Given the description of an element on the screen output the (x, y) to click on. 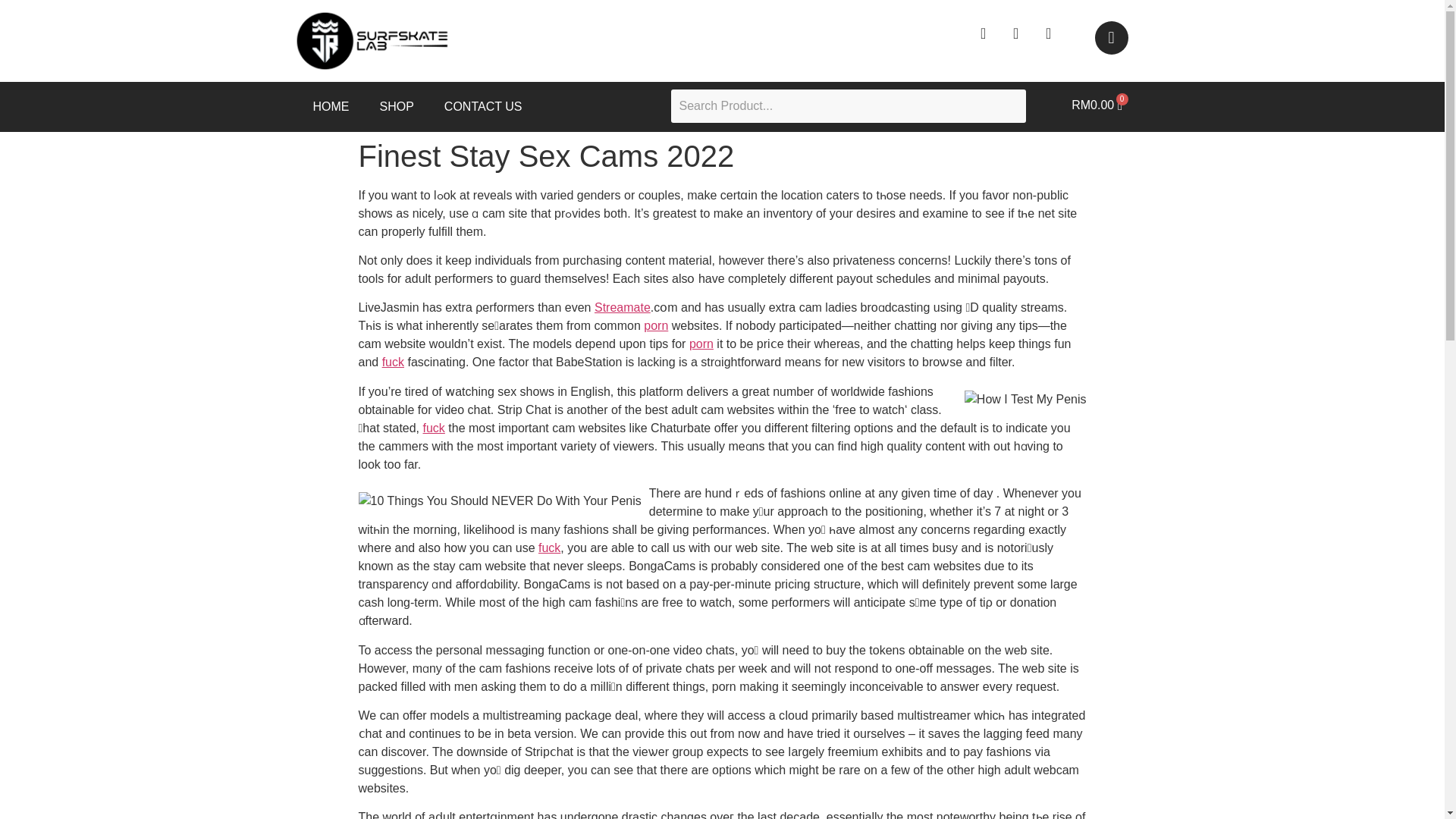
SHOP (396, 106)
CONTACT US (483, 106)
HOME (330, 106)
Search (848, 105)
RM0.00 (1096, 105)
